Given the description of an element on the screen output the (x, y) to click on. 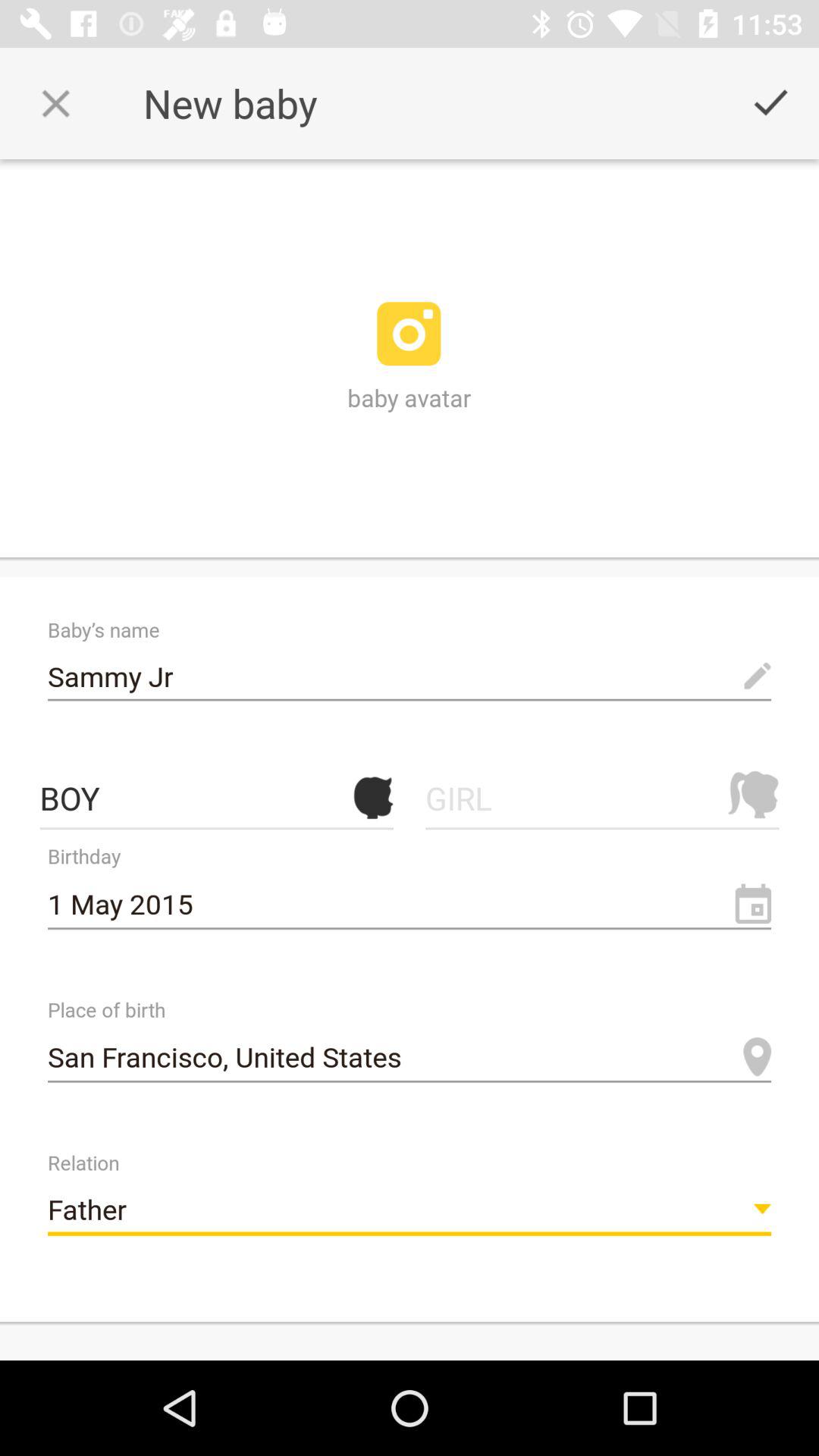
delete this entry (55, 103)
